Given the description of an element on the screen output the (x, y) to click on. 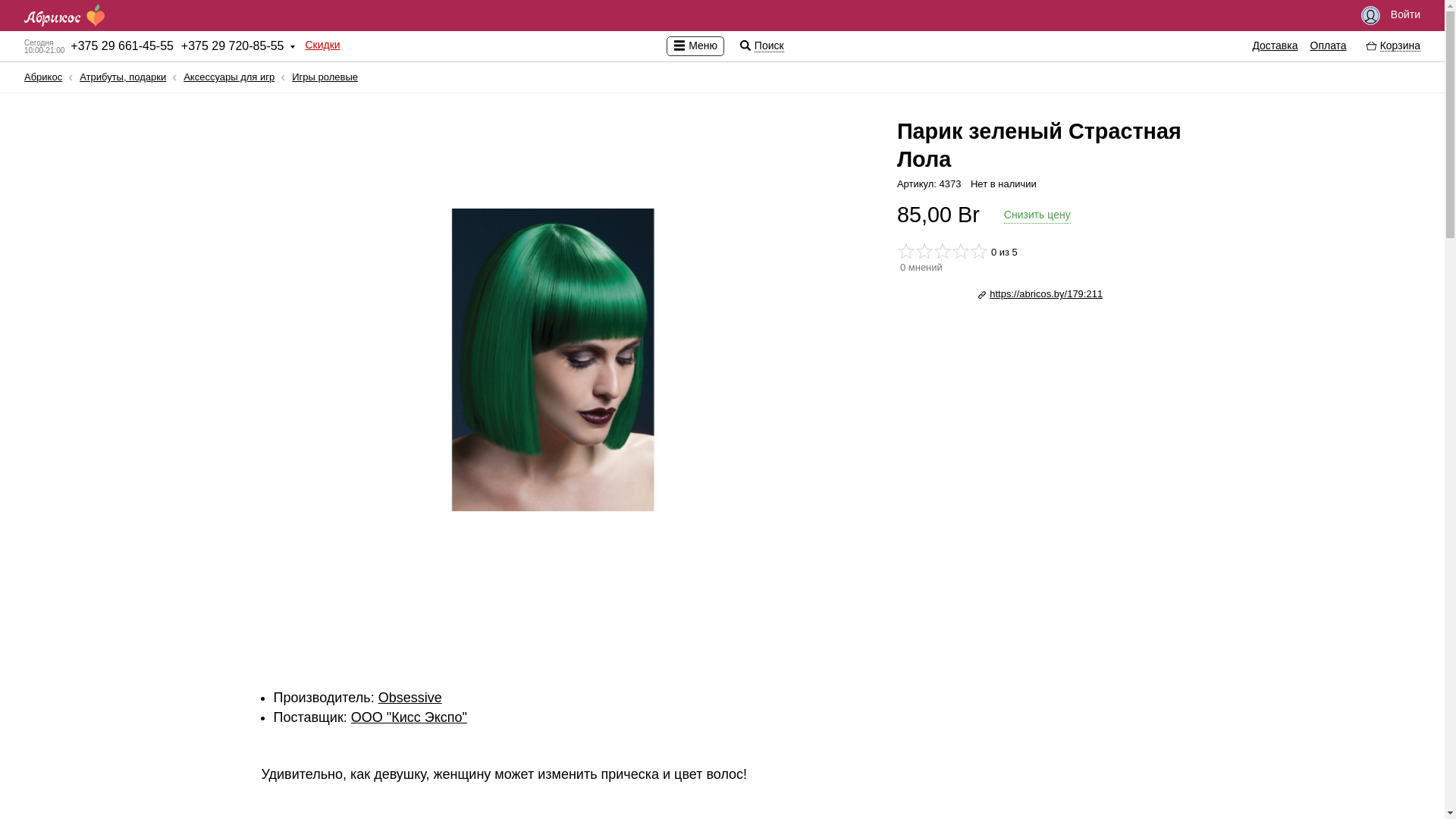
https://abricos.by/179:211 Element type: text (1039, 293)
Obsessive Element type: text (410, 697)
